Given the description of an element on the screen output the (x, y) to click on. 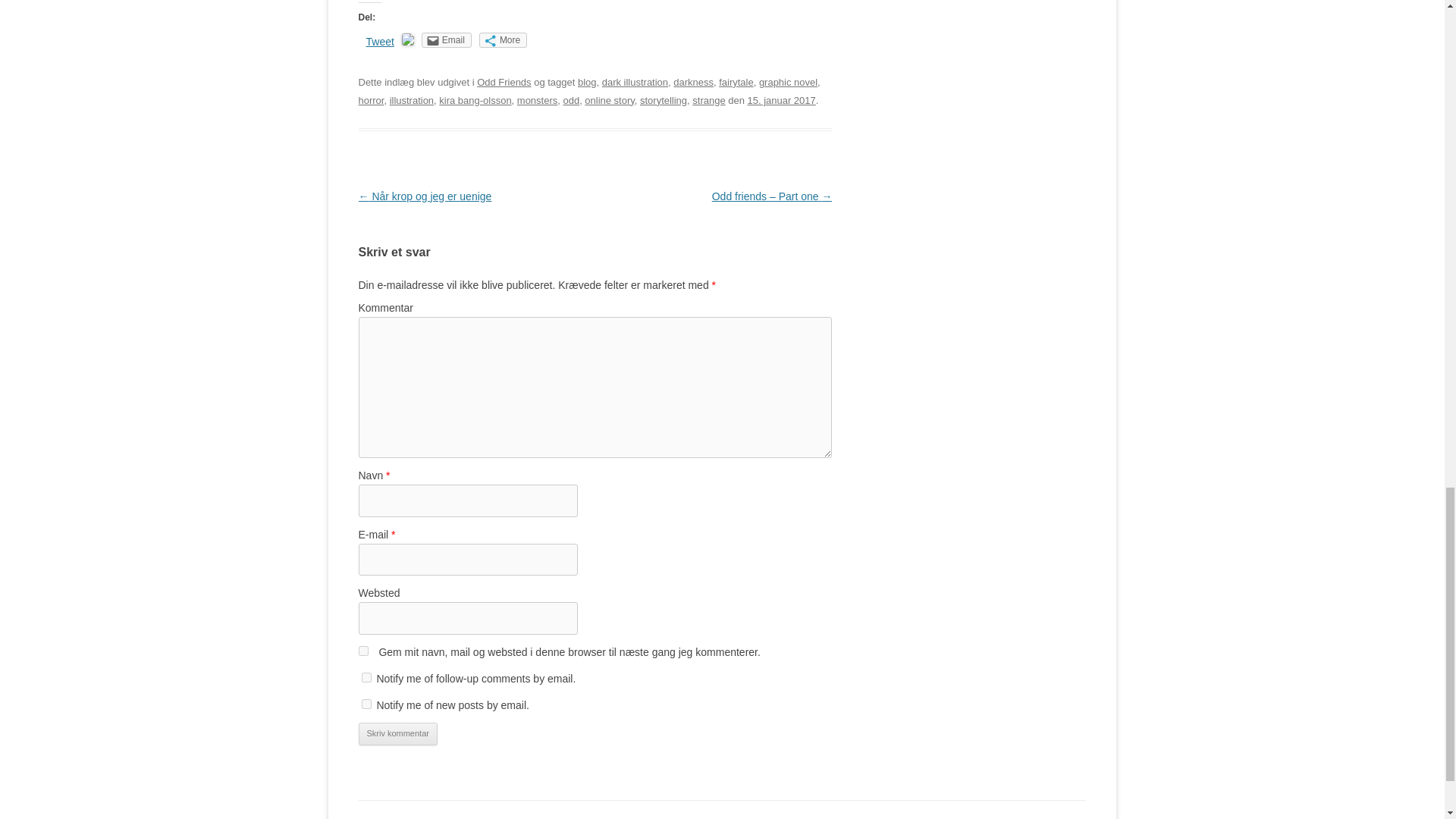
subscribe (366, 677)
kira bang-olsson (475, 100)
fairytale (735, 81)
Skriv kommentar (397, 733)
horror (371, 100)
Odd Friends (504, 81)
Skriv kommentar (397, 733)
graphic novel (787, 81)
online story (609, 100)
14:42 (781, 100)
dark illustration (635, 81)
More (503, 39)
Email (446, 39)
strange (709, 100)
storytelling (663, 100)
